Given the description of an element on the screen output the (x, y) to click on. 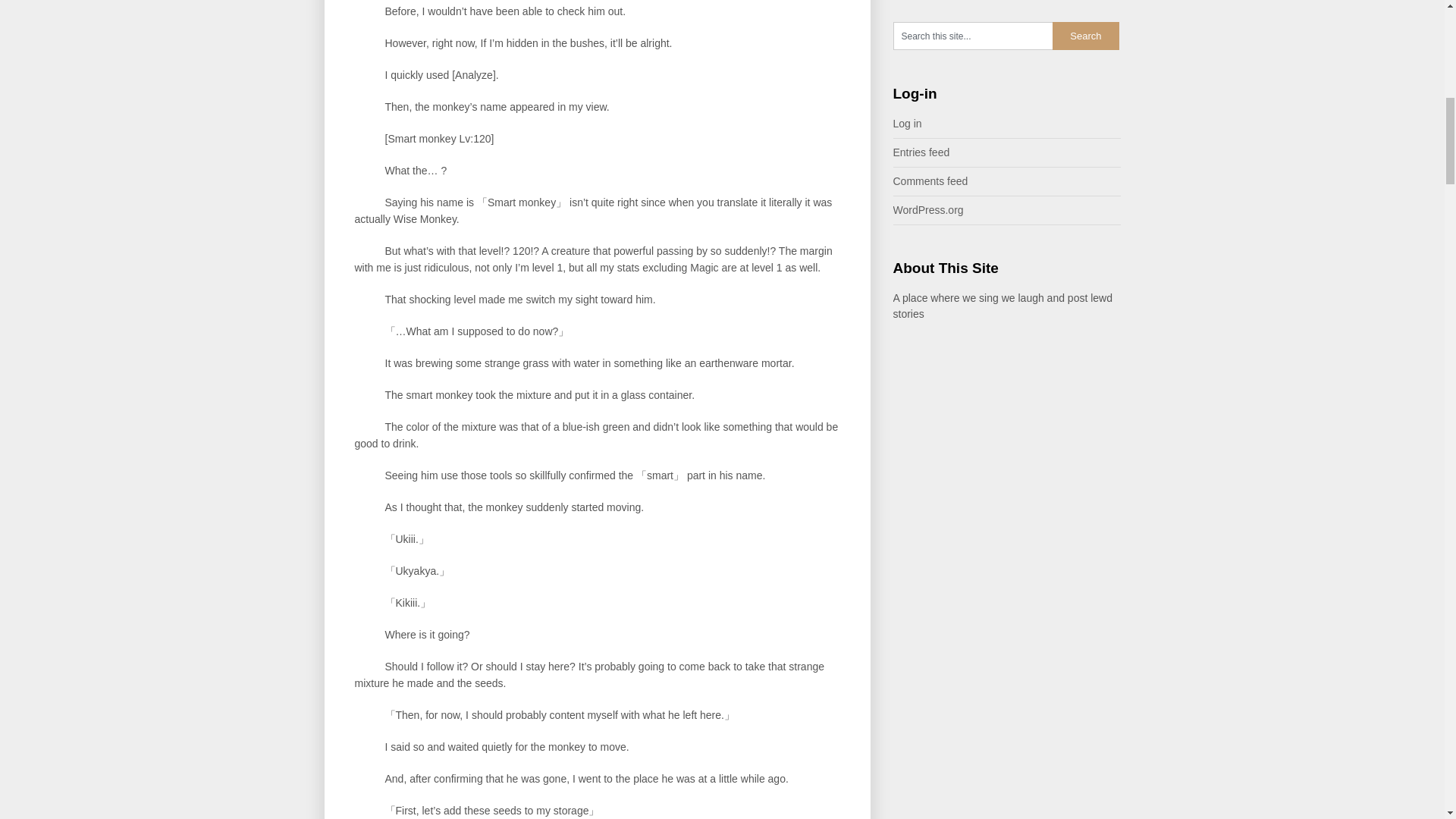
Search (1085, 35)
Entries feed (921, 152)
Search this site... (972, 35)
Log in (907, 123)
WordPress.org (928, 209)
Search (1085, 35)
Comments feed (930, 181)
